Given the description of an element on the screen output the (x, y) to click on. 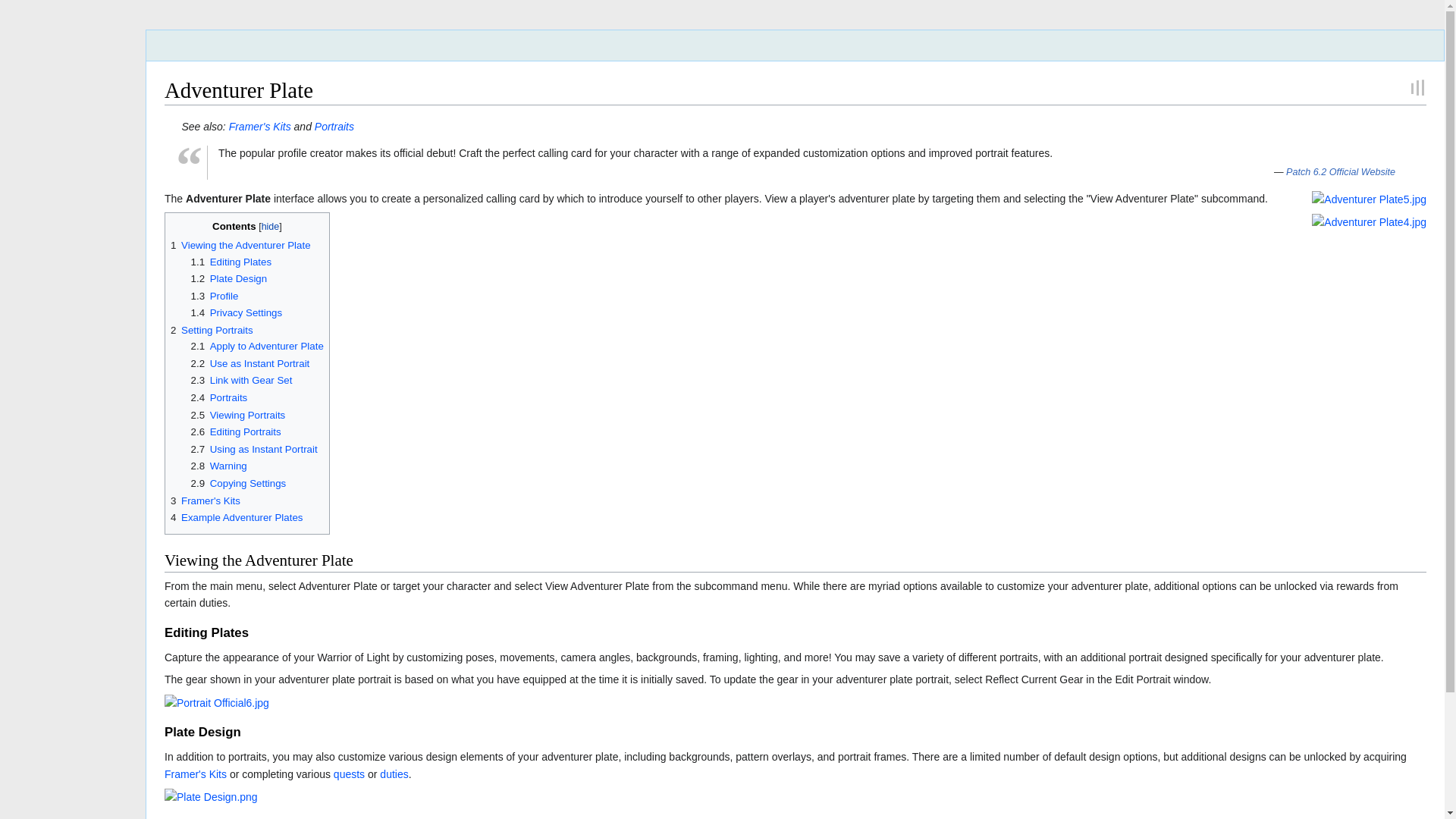
2.1 Apply to Adventurer Plate (256, 346)
Adventurer Plate (228, 198)
2.2 Use as Instant Portrait (250, 363)
3 Framer's Kits (205, 500)
Portraits (333, 126)
Framer's Kits (259, 126)
Quests (349, 774)
2.6 Editing Portraits (235, 431)
Duties (393, 774)
